Given the description of an element on the screen output the (x, y) to click on. 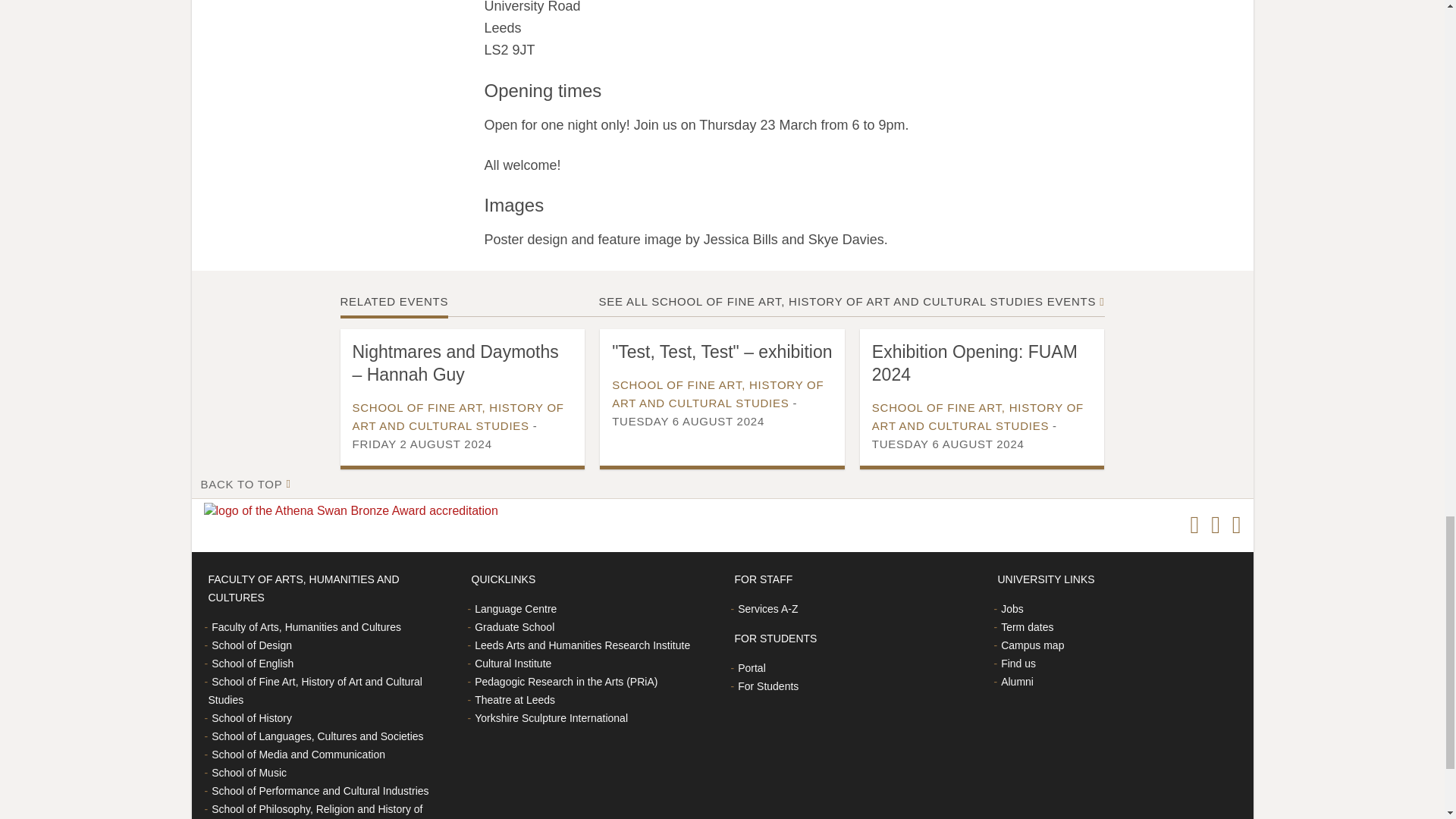
Visit Athena Swan Bronze (353, 511)
